Given the description of an element on the screen output the (x, y) to click on. 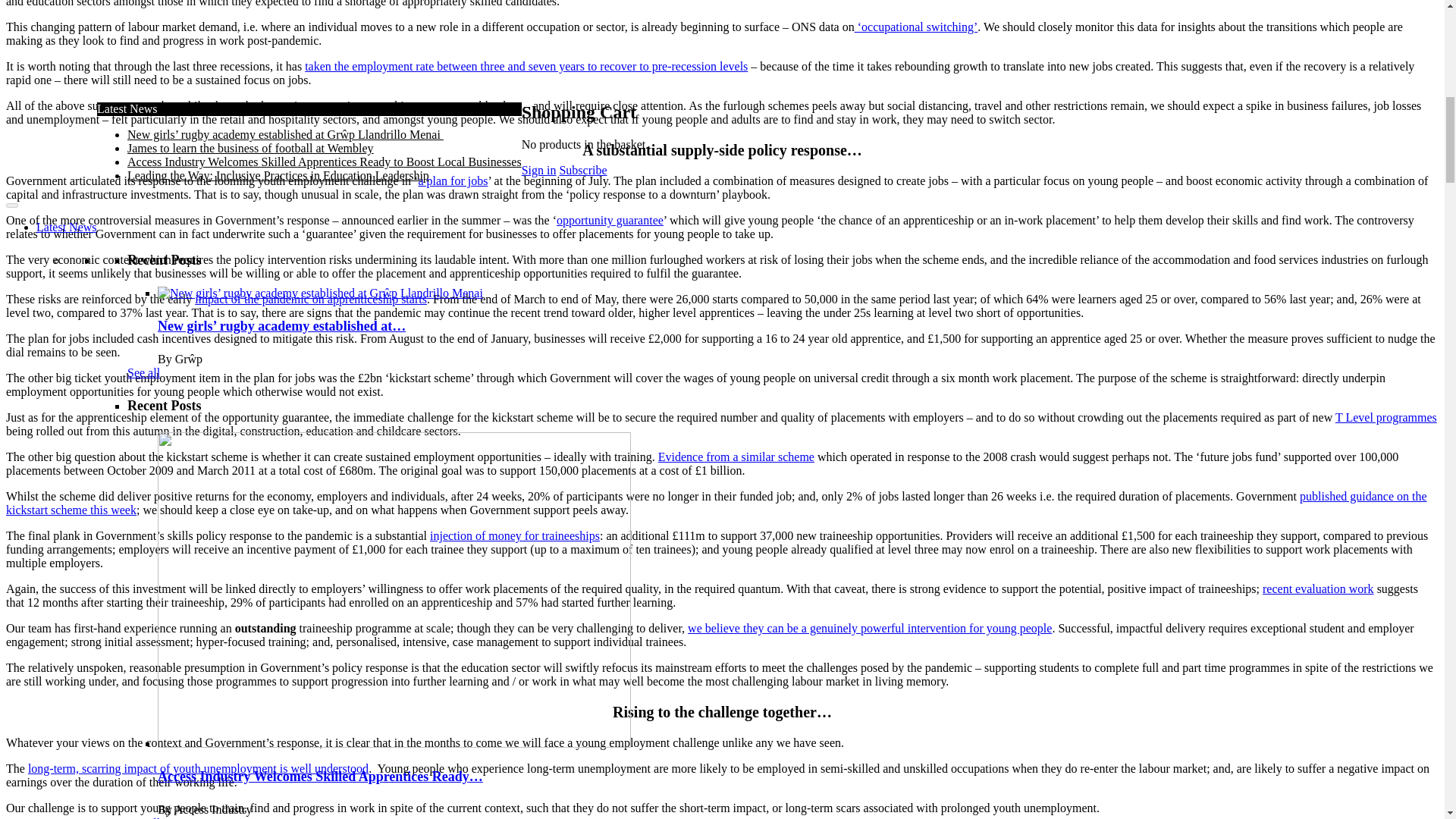
Skills and Apprenticeships - News and Insights (242, 699)
See all (144, 4)
See all (144, 599)
EdTech - News on Education Technology (228, 658)
Sign in (240, 727)
See all (144, 453)
Exclusives (62, 740)
Work and leadership (177, 686)
